Given the description of an element on the screen output the (x, y) to click on. 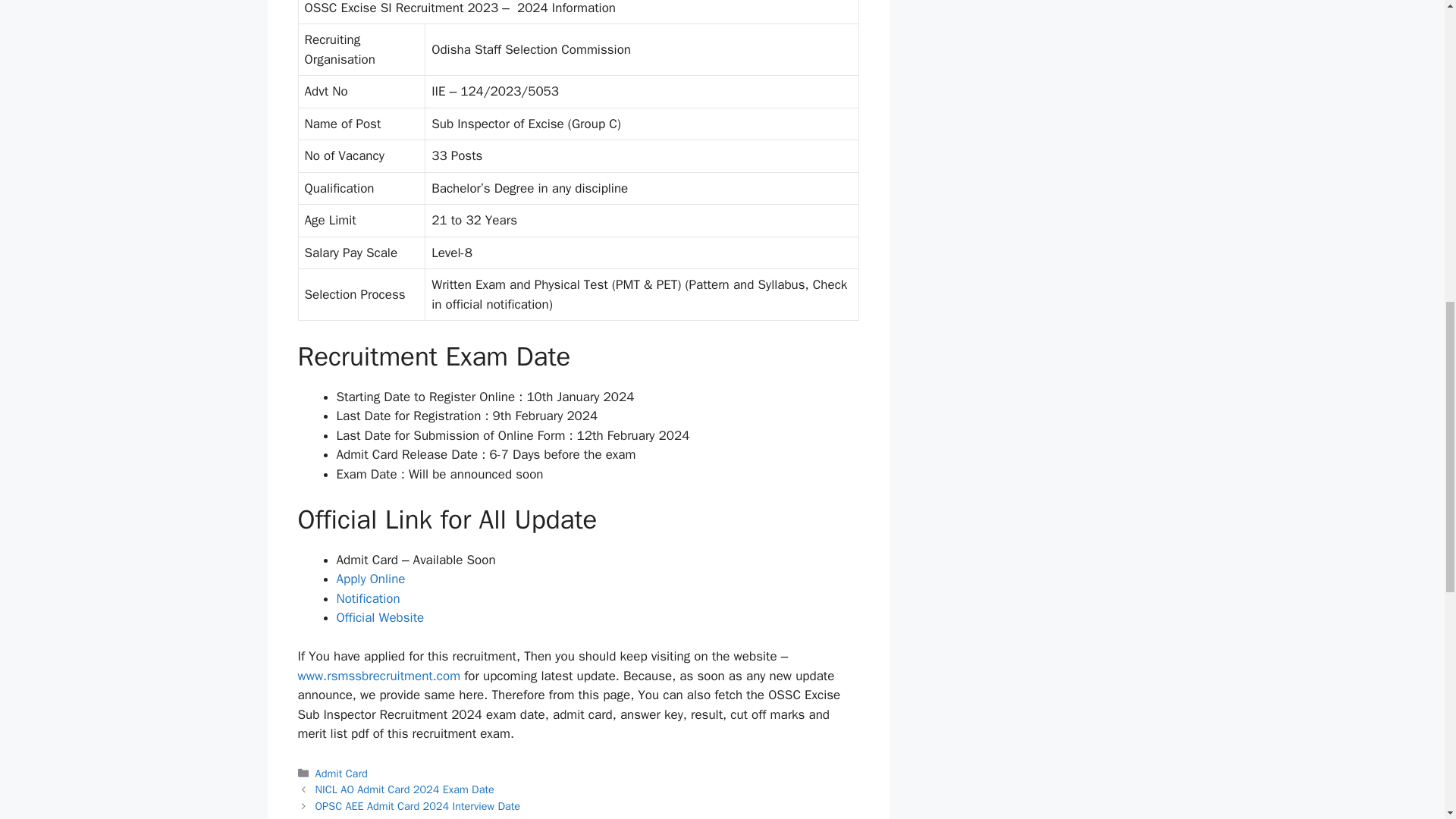
Apply Online (371, 578)
OPSC AEE Admit Card 2024 Interview Date (418, 806)
www.rsmssbrecruitment.com (378, 675)
NICL AO Admit Card 2024 Exam Date (405, 789)
Notification (368, 598)
Official Website (380, 617)
Admit Card (341, 773)
